Given the description of an element on the screen output the (x, y) to click on. 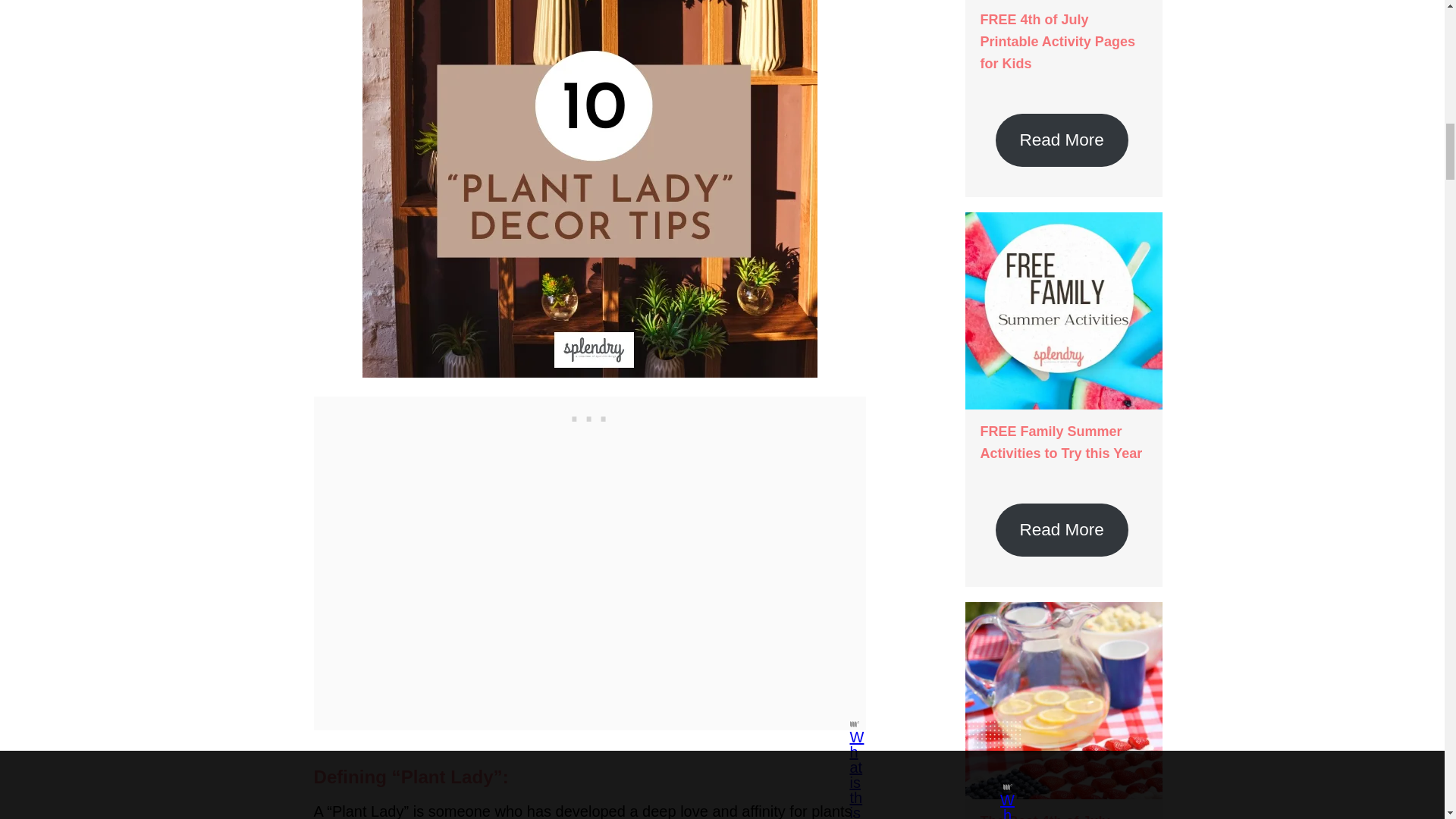
3rd party ad content (589, 415)
